Given the description of an element on the screen output the (x, y) to click on. 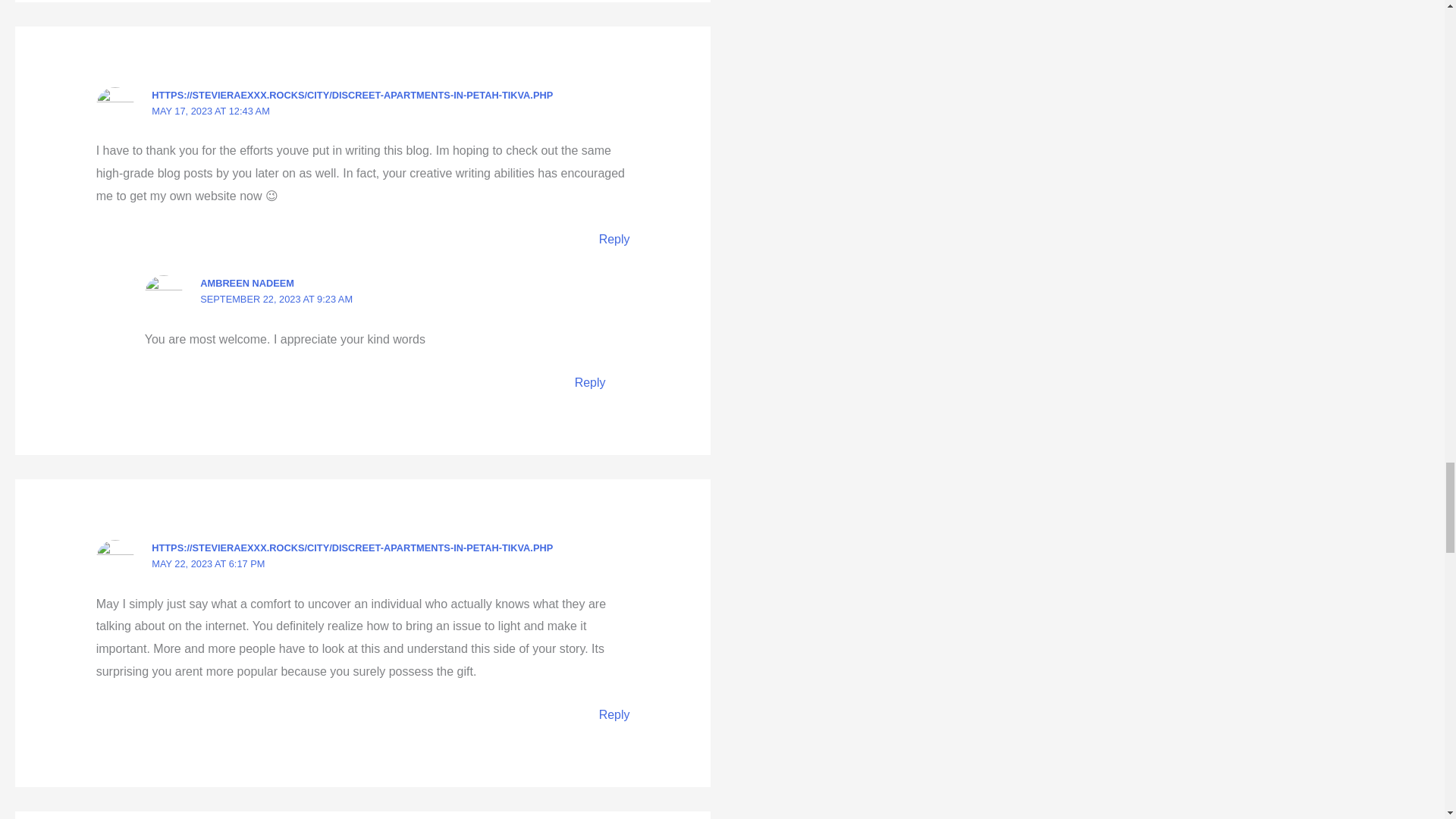
Reply (614, 238)
MAY 17, 2023 AT 12:43 AM (210, 111)
Reply (590, 382)
SEPTEMBER 22, 2023 AT 9:23 AM (276, 298)
AMBREEN NADEEM (247, 283)
